Given the description of an element on the screen output the (x, y) to click on. 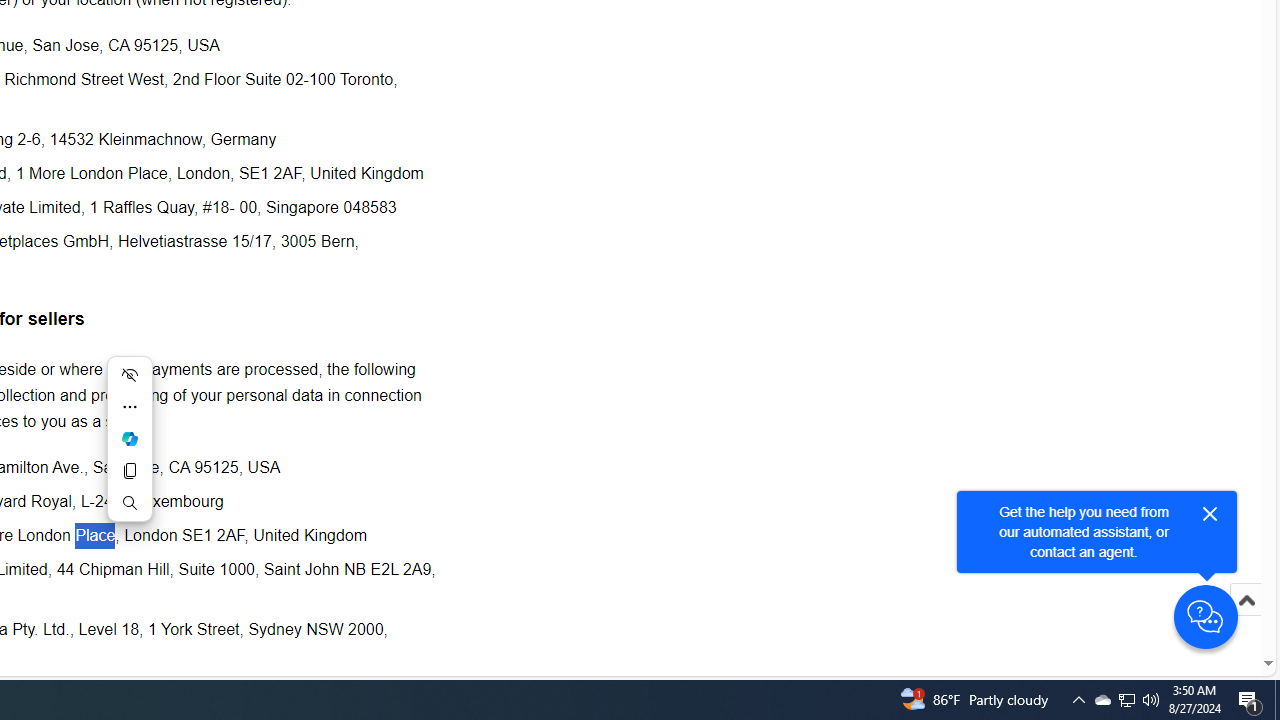
Scroll to top (1246, 620)
Mini menu on text selection (129, 439)
Hide menu (129, 374)
Scroll to top (1246, 599)
More actions (129, 406)
Copy (129, 470)
Mini menu on text selection (129, 450)
Ask Copilot (129, 439)
